Given the description of an element on the screen output the (x, y) to click on. 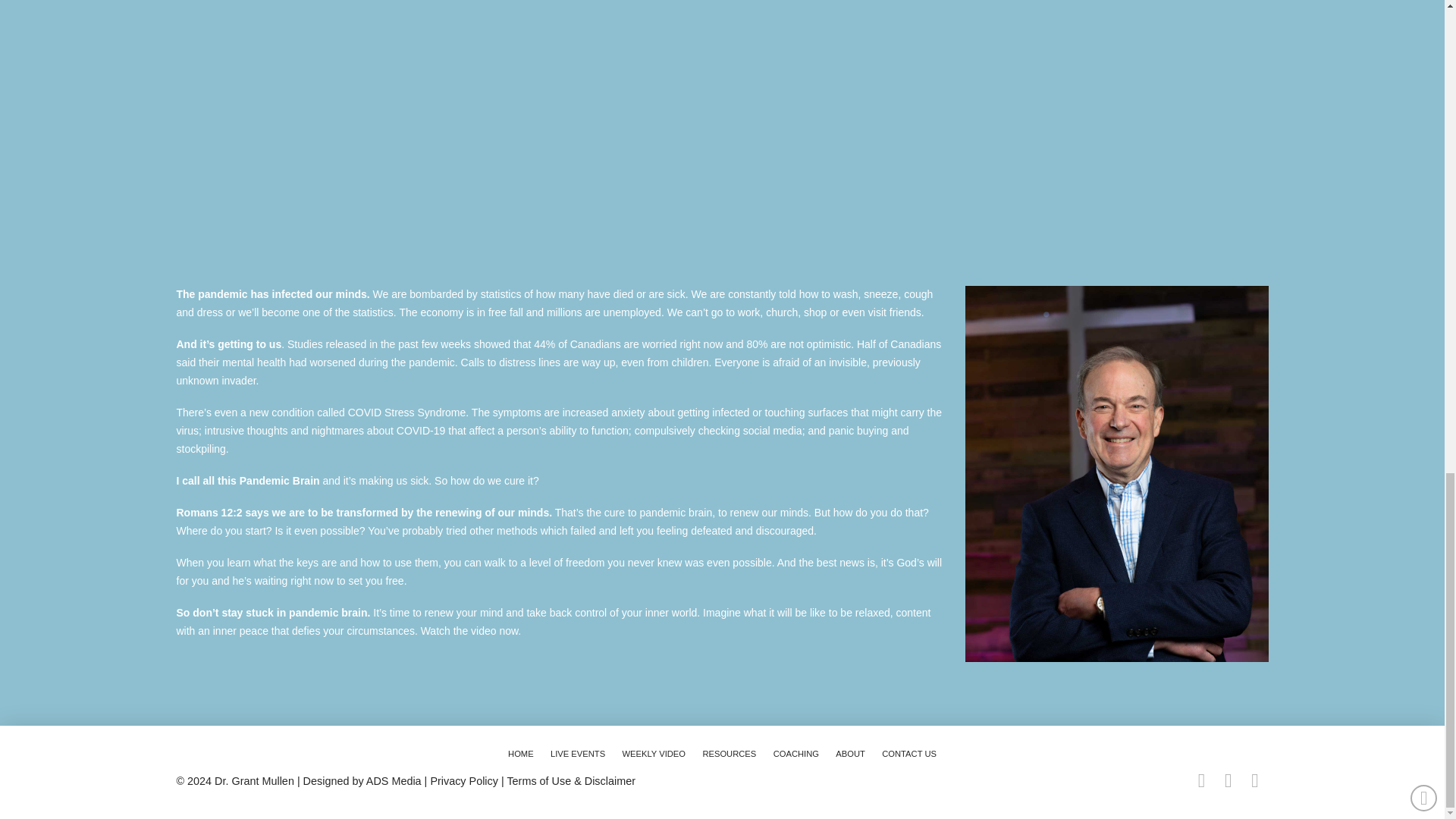
COACHING (795, 755)
LIVE EVENTS (577, 755)
ADS Media (394, 780)
Privacy Policy (463, 780)
HOME (520, 755)
ABOUT (850, 755)
CONTACT US (908, 755)
WEEKLY VIDEO (653, 755)
RESOURCES (729, 755)
